Given the description of an element on the screen output the (x, y) to click on. 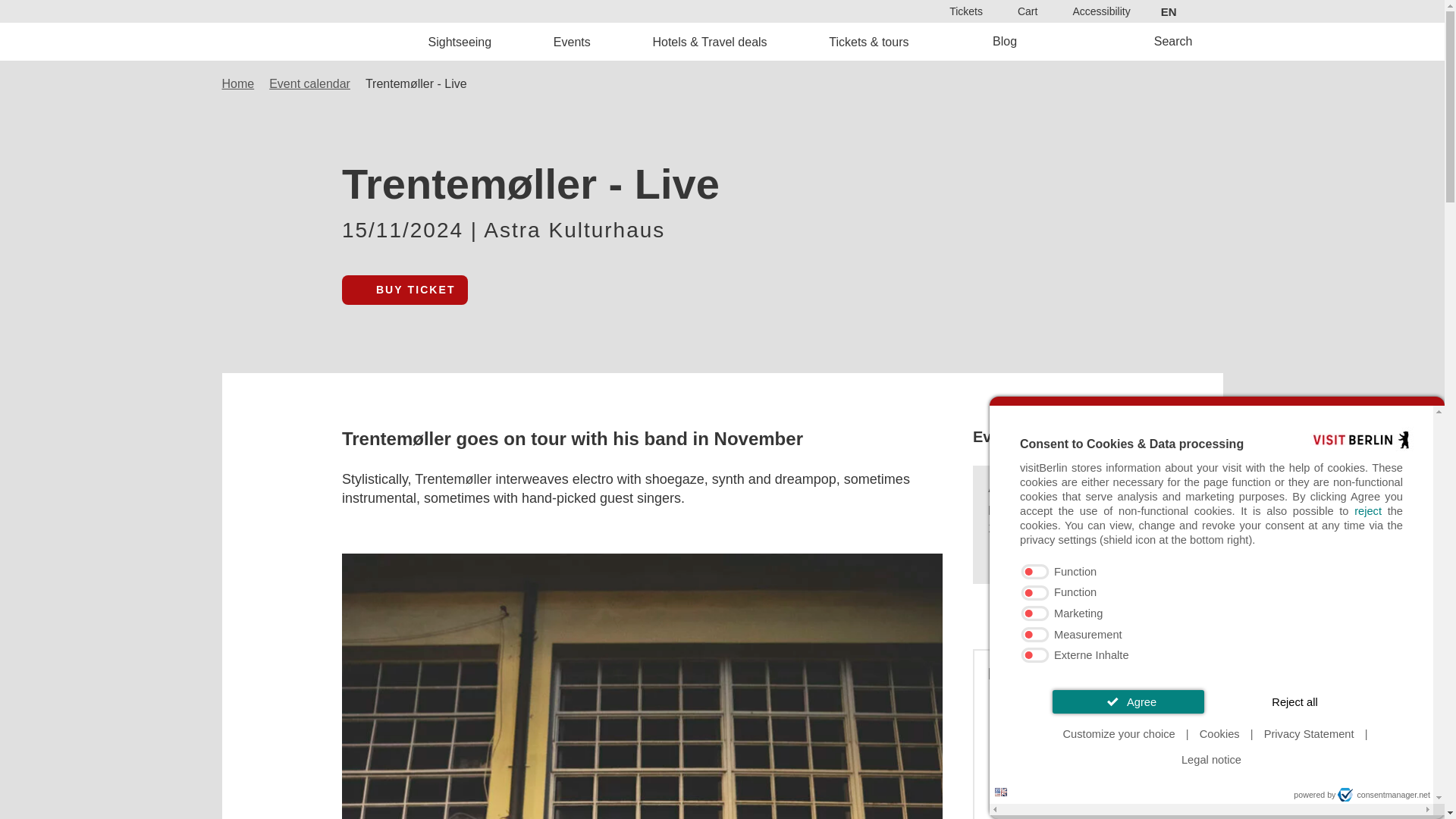
Events (571, 41)
consentmanager.net (1383, 794)
Privacy Statement (1308, 734)
Language: en (1000, 791)
Cookies (1219, 734)
Find (768, 432)
Sightseeing (460, 41)
Agree (1128, 701)
Legal notice (1211, 759)
Reject all (1295, 701)
Home (327, 41)
Language: en (1000, 791)
Customize your choice (1118, 734)
Purpose (1211, 614)
reject (1367, 510)
